Given the description of an element on the screen output the (x, y) to click on. 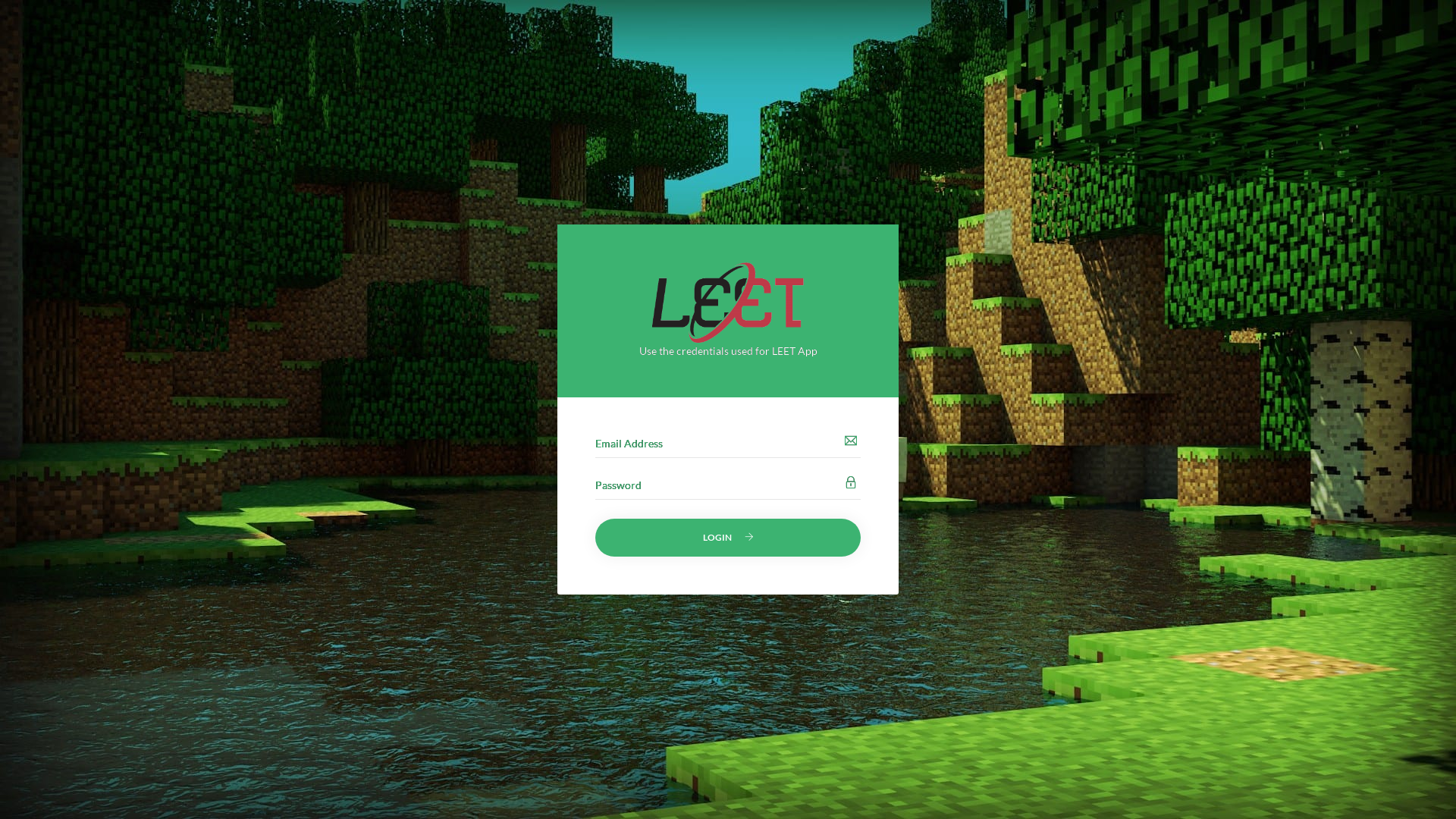
LOGIN Element type: text (727, 537)
